Given the description of an element on the screen output the (x, y) to click on. 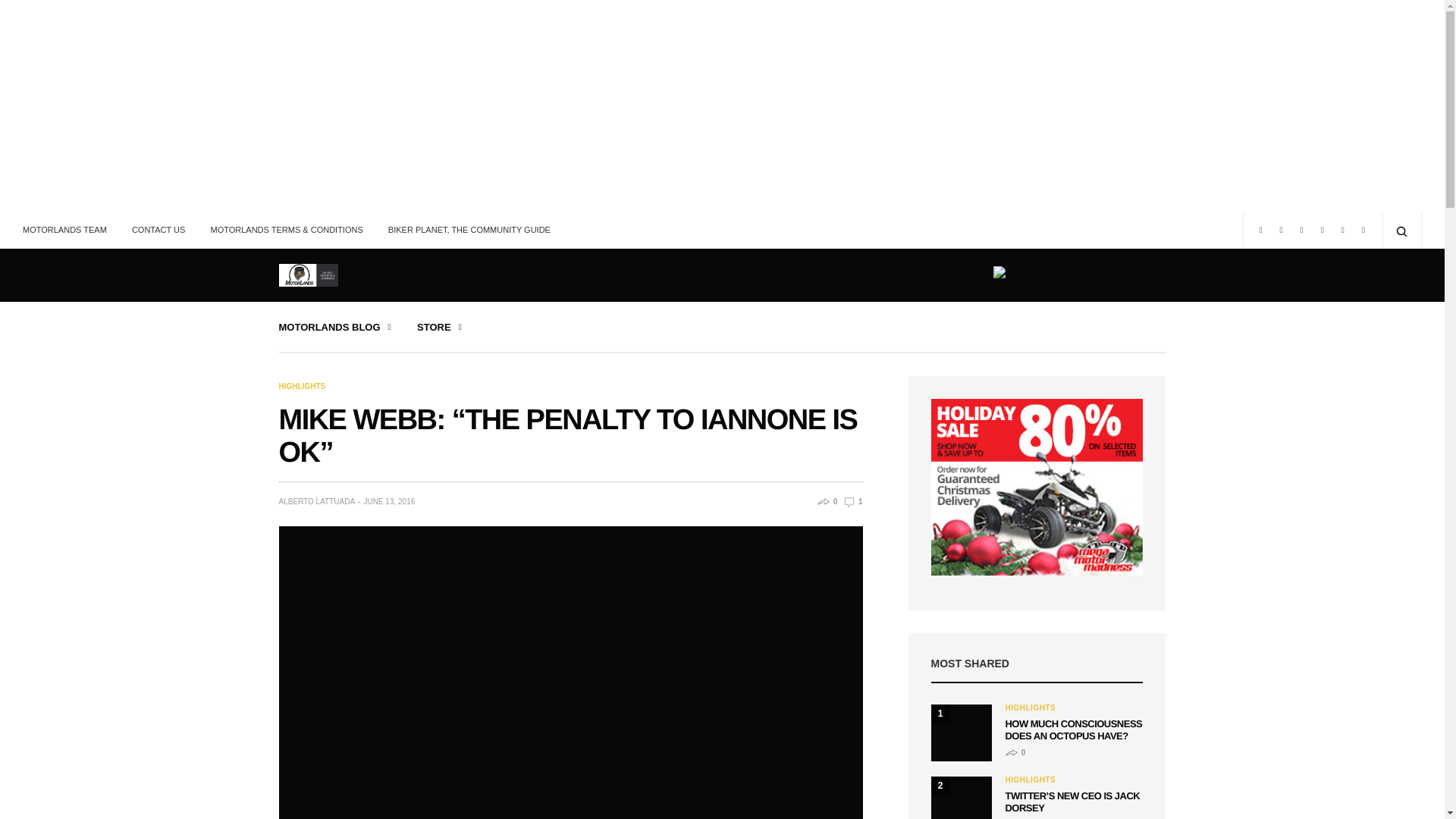
HighLights (302, 386)
BIKER PLANET, THE COMMUNITY GUIDE (469, 229)
STORE (438, 326)
MOTORLANDS TEAM (70, 229)
Search (16, 16)
Posts by Alberto Lattuada (317, 501)
HighLights (1031, 707)
How Much Consciousness Does An Octopus Have? (961, 724)
CONTACT US (158, 229)
MOTORLANDS BLOG (335, 326)
